Given the description of an element on the screen output the (x, y) to click on. 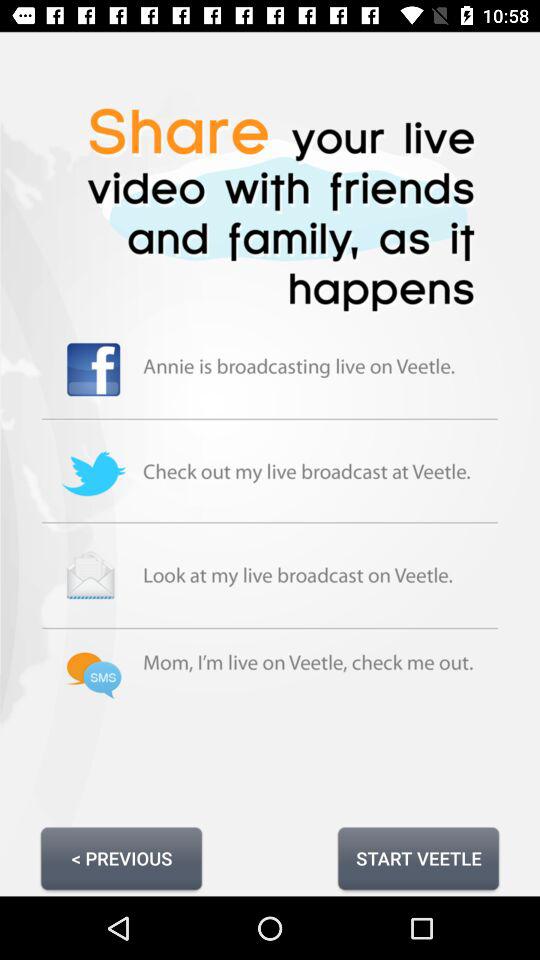
jump to the < previous button (121, 858)
